Given the description of an element on the screen output the (x, y) to click on. 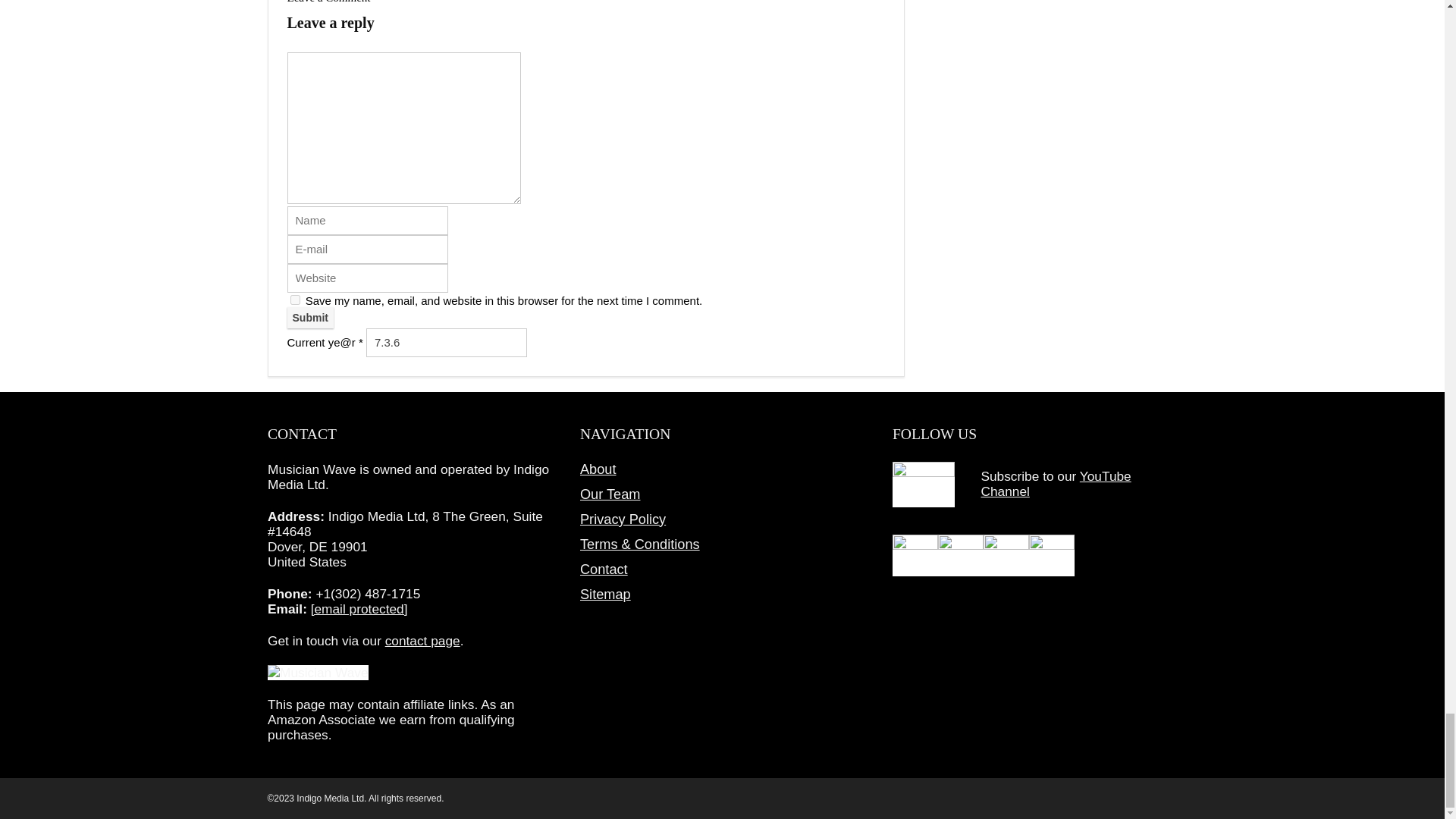
7.3.6 (446, 342)
yes (294, 299)
Submit (309, 317)
Submit (309, 317)
